Given the description of an element on the screen output the (x, y) to click on. 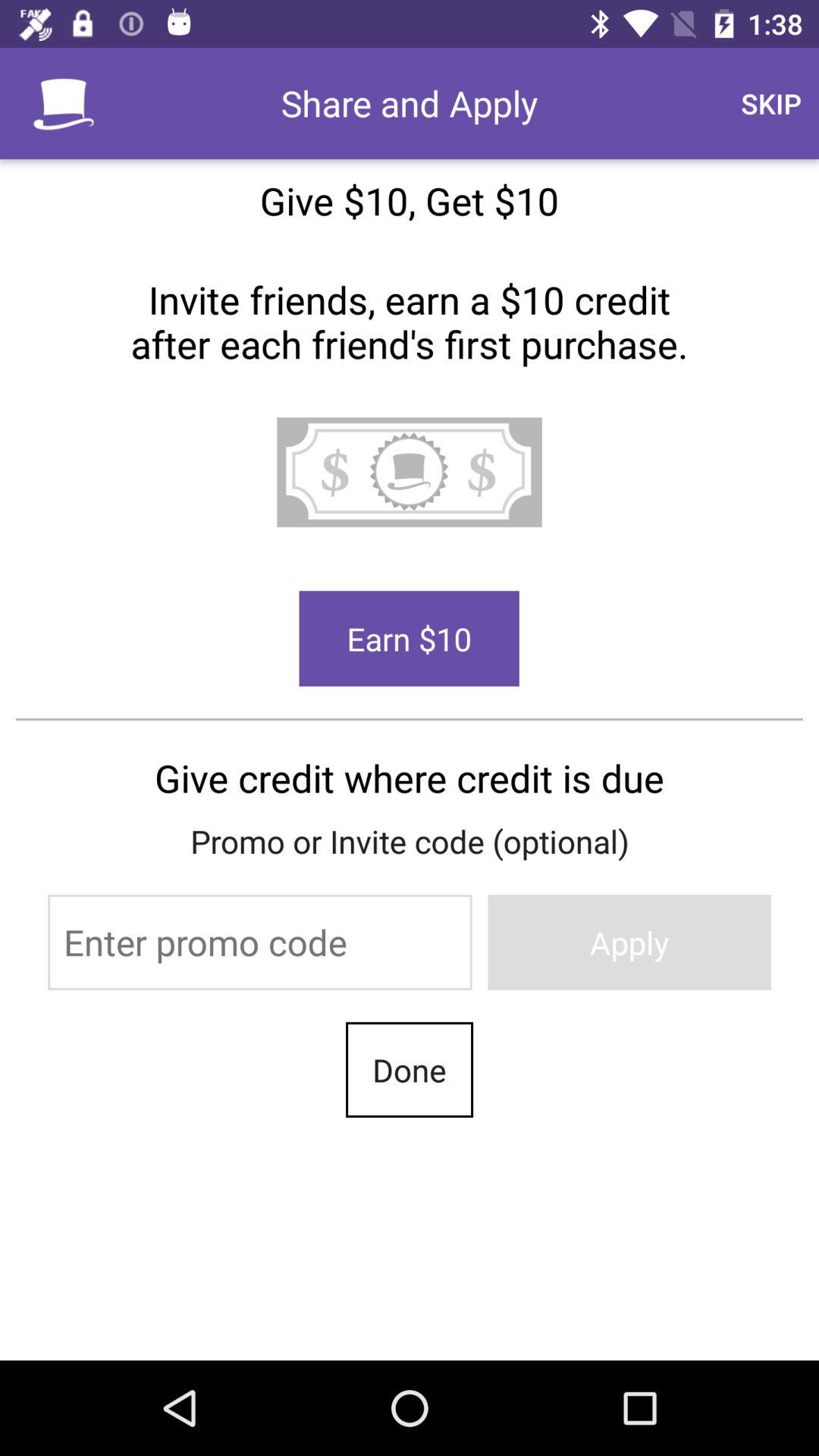
launch the skip item (771, 103)
